Given the description of an element on the screen output the (x, y) to click on. 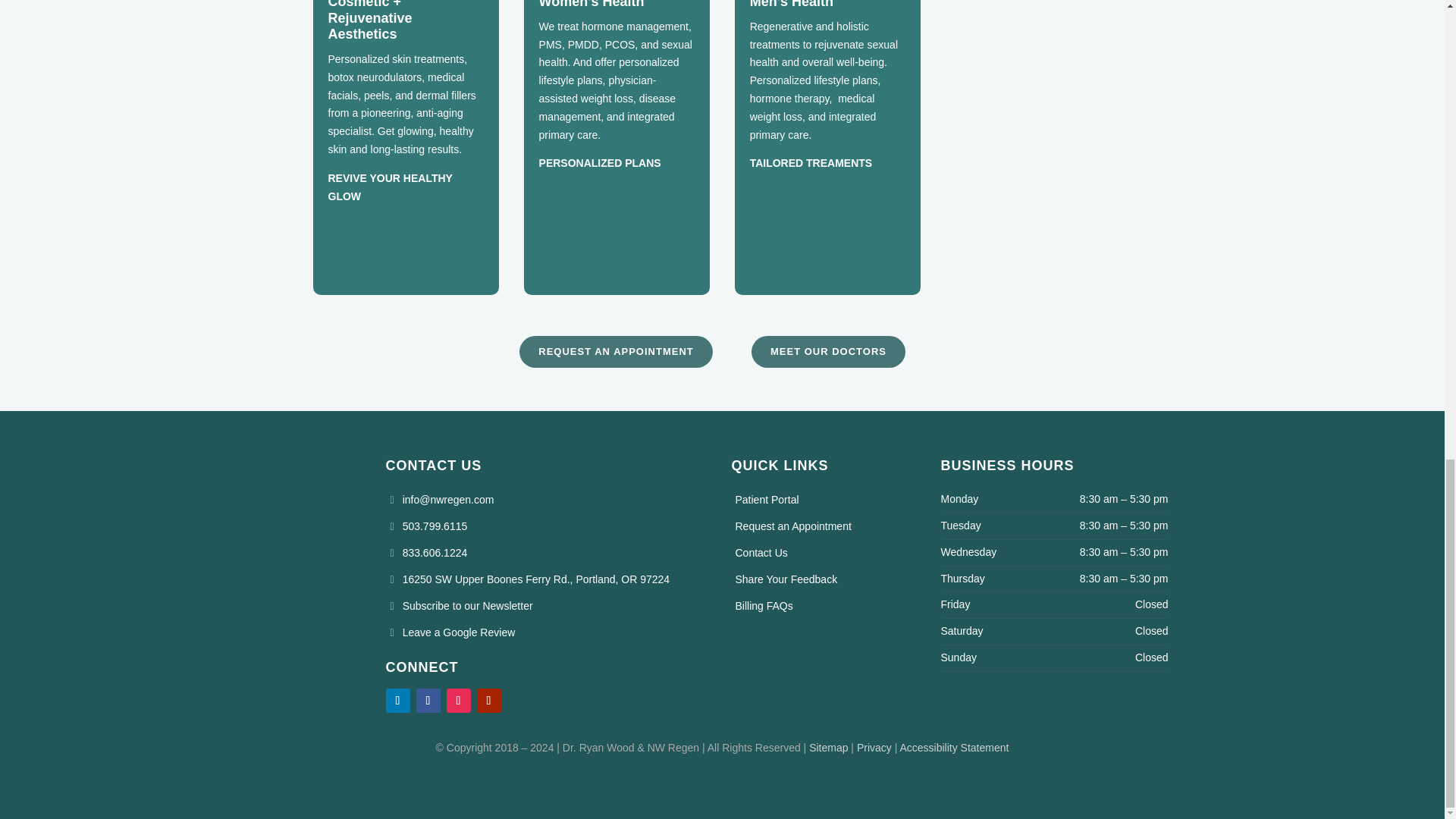
Follow on Youtube (488, 700)
Sitemap (828, 747)
Share Your Feedback (783, 579)
Follow on LinkedIn (397, 700)
Patient Portal (763, 499)
REQUEST AN APPOINTMENT (616, 351)
Request an Appointment (790, 526)
Accessibility Statement (954, 747)
Billing FAQs (761, 605)
Follow on Instagram (457, 700)
